Given the description of an element on the screen output the (x, y) to click on. 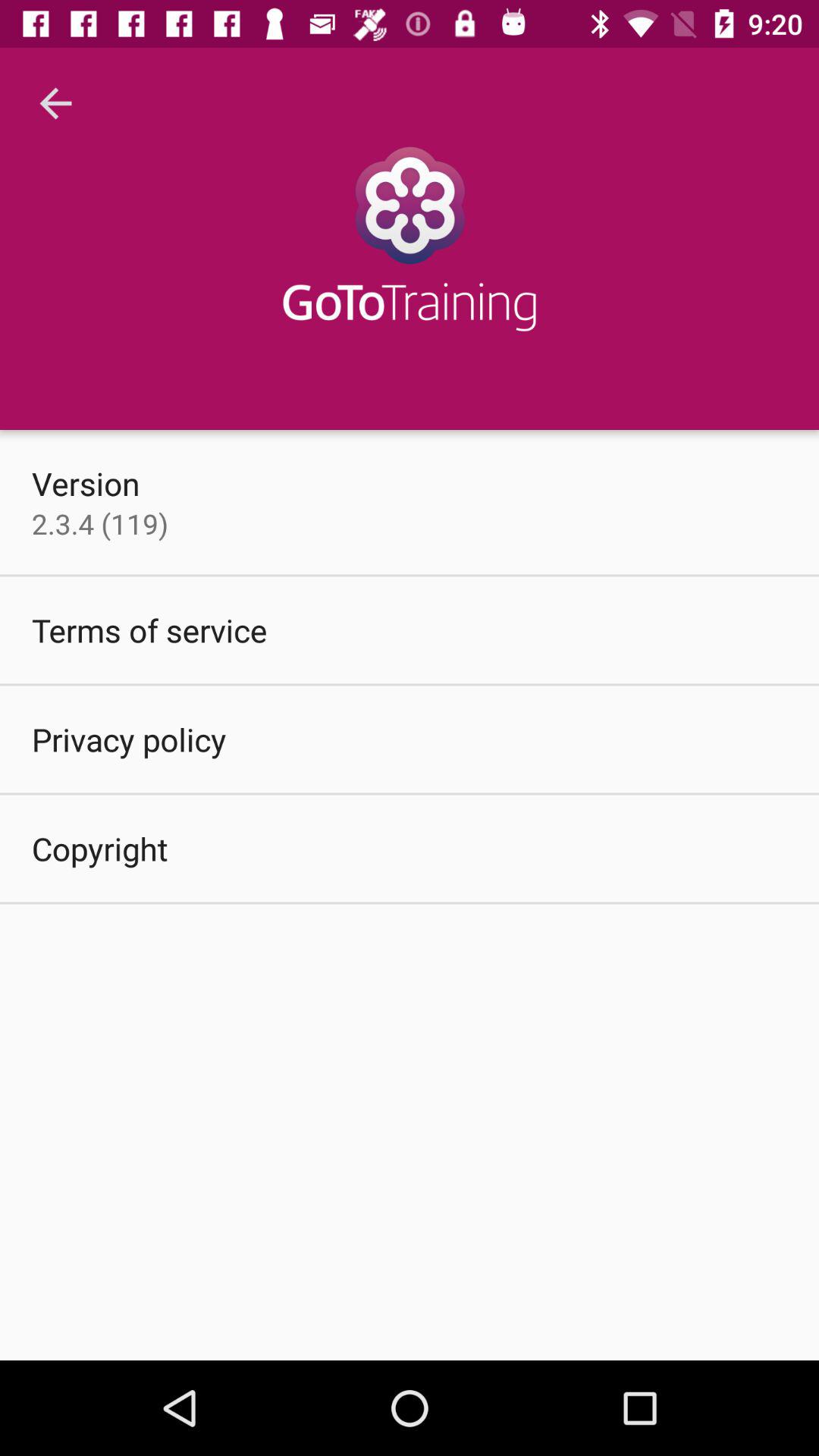
open the item below the privacy policy (99, 848)
